Given the description of an element on the screen output the (x, y) to click on. 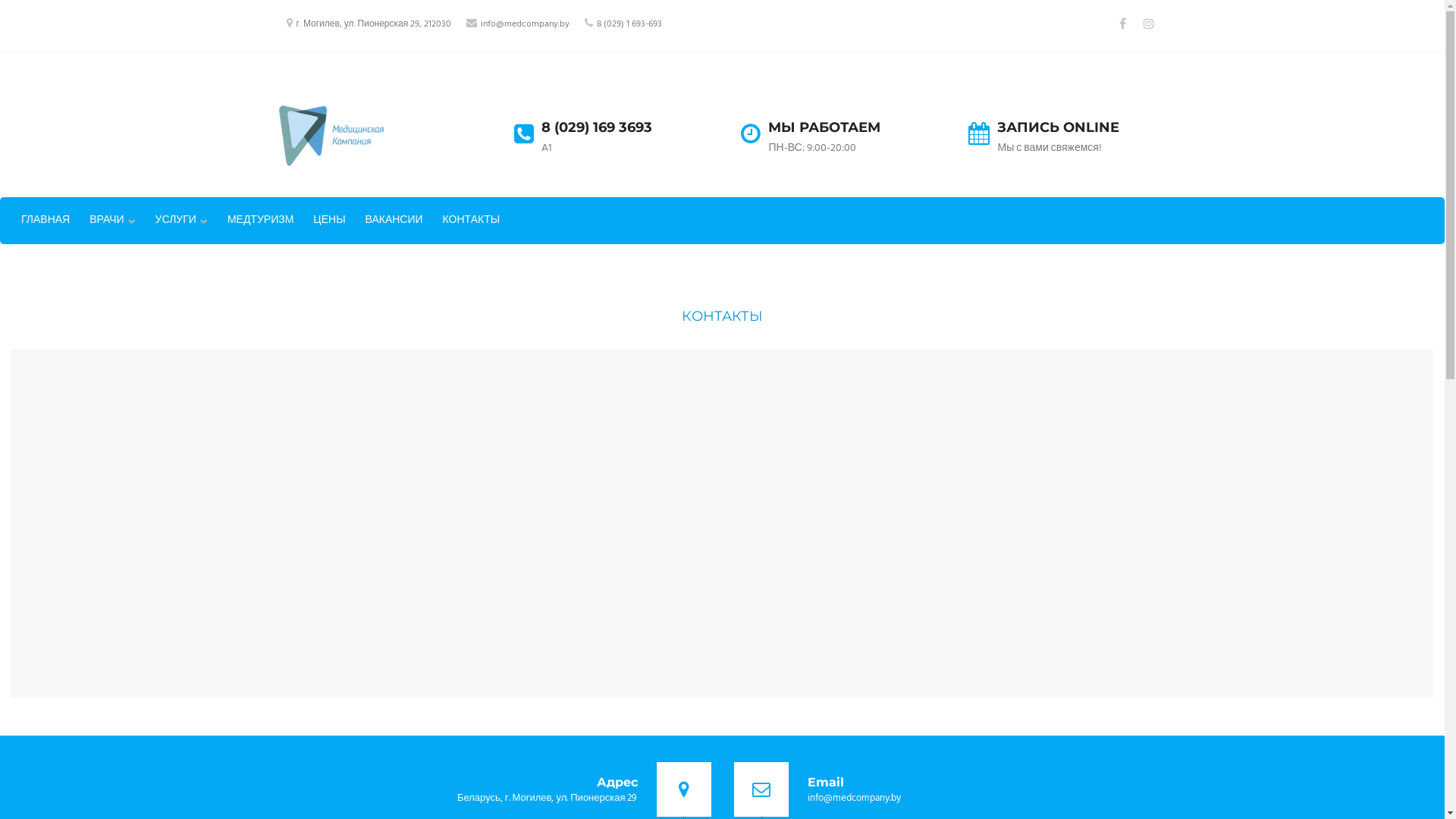
info@medcompany.by Element type: text (524, 23)
Instagram Element type: hover (1148, 23)
Skip to content Element type: text (0, 0)
Facebook Element type: hover (1122, 23)
